Given the description of an element on the screen output the (x, y) to click on. 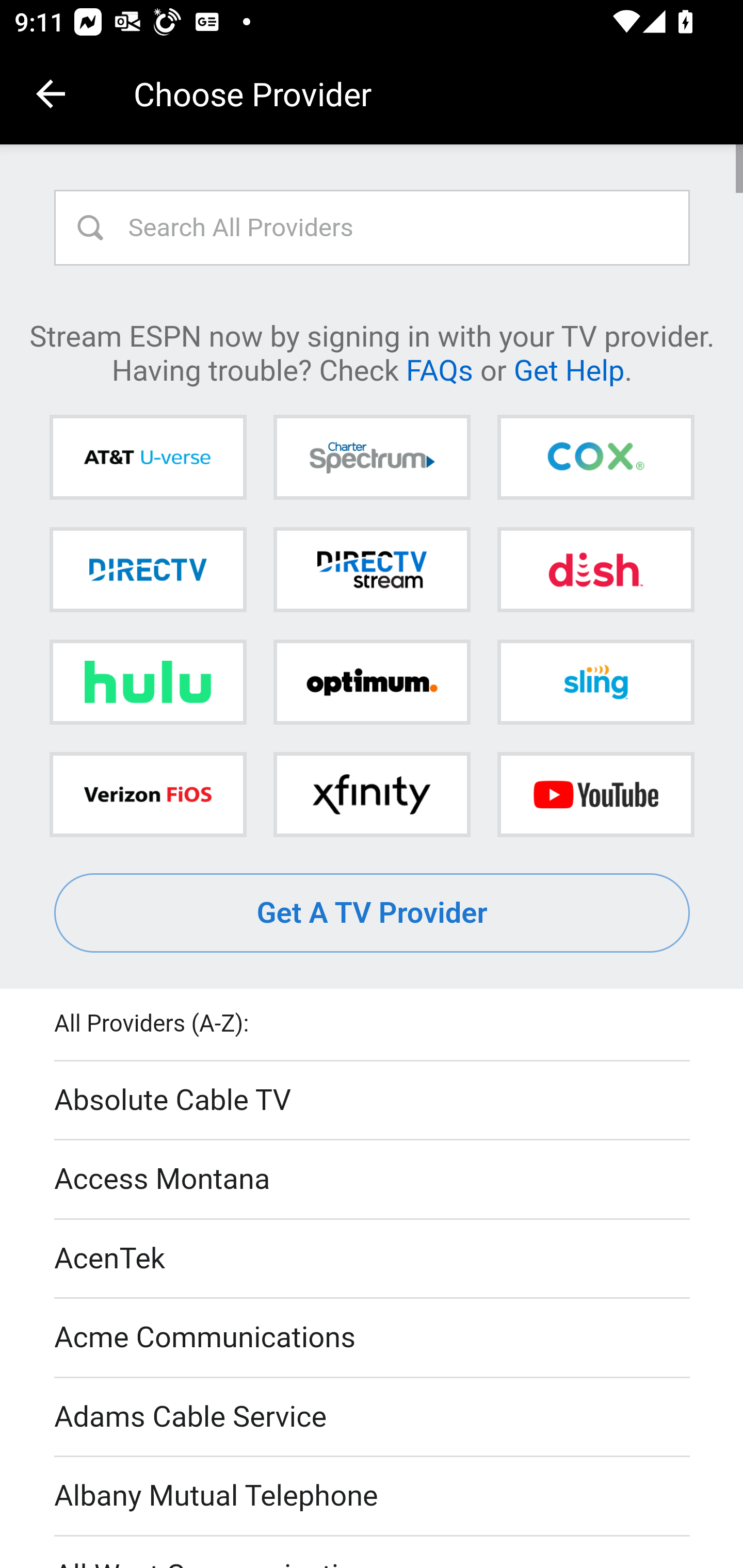
Navigate up (50, 93)
FAQs (438, 369)
Get Help (569, 369)
AT&T U-verse (147, 457)
Charter Spectrum (371, 457)
Cox (595, 457)
DIRECTV (147, 568)
DIRECTV STREAM (371, 568)
DISH (595, 568)
Hulu (147, 681)
Optimum (371, 681)
Sling TV (595, 681)
Verizon FiOS (147, 793)
Xfinity (371, 793)
YouTube TV (595, 793)
Get A TV Provider (372, 912)
Absolute Cable TV (372, 1100)
Access Montana (372, 1178)
AcenTek (372, 1258)
Acme Communications (372, 1338)
Adams Cable Service (372, 1417)
Albany Mutual Telephone (372, 1497)
